Given the description of an element on the screen output the (x, y) to click on. 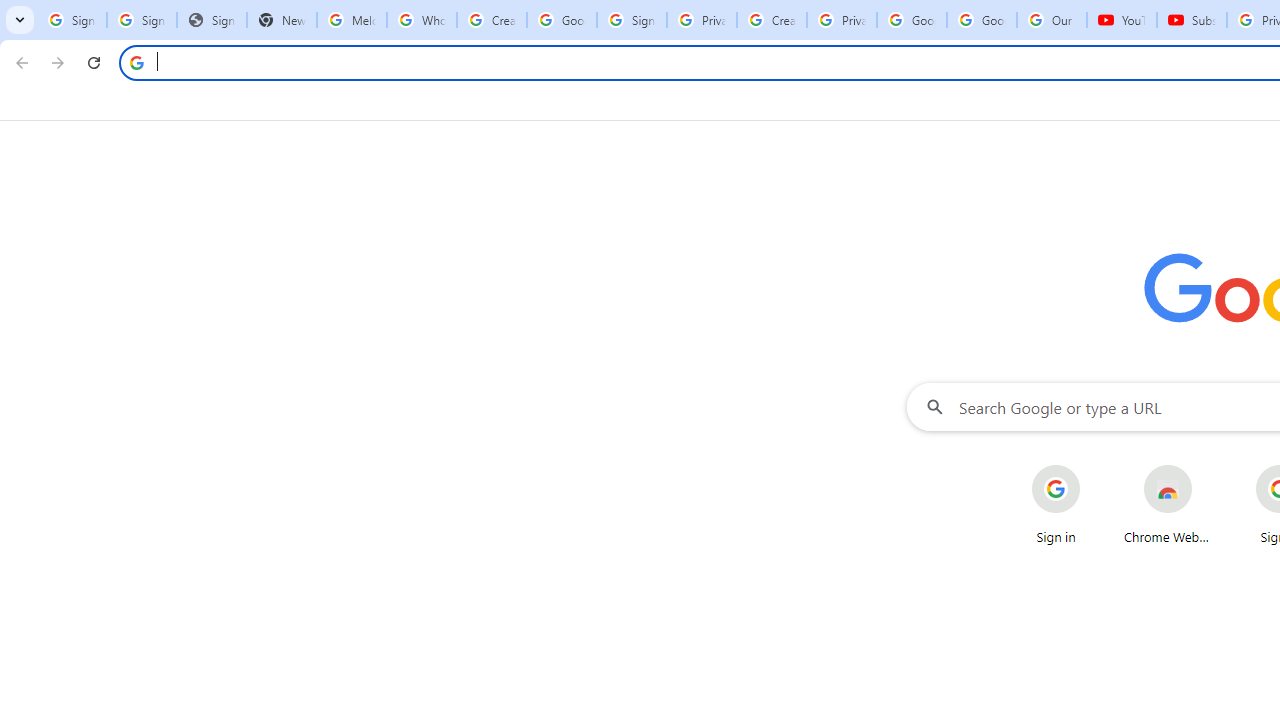
Sign in - Google Accounts (72, 20)
Chrome Web Store (1167, 504)
New Tab (282, 20)
Search icon (136, 62)
Sign in - Google Accounts (141, 20)
Sign in - Google Accounts (631, 20)
More actions for Sign in shortcut (1095, 466)
Sign In - USA TODAY (211, 20)
